Given the description of an element on the screen output the (x, y) to click on. 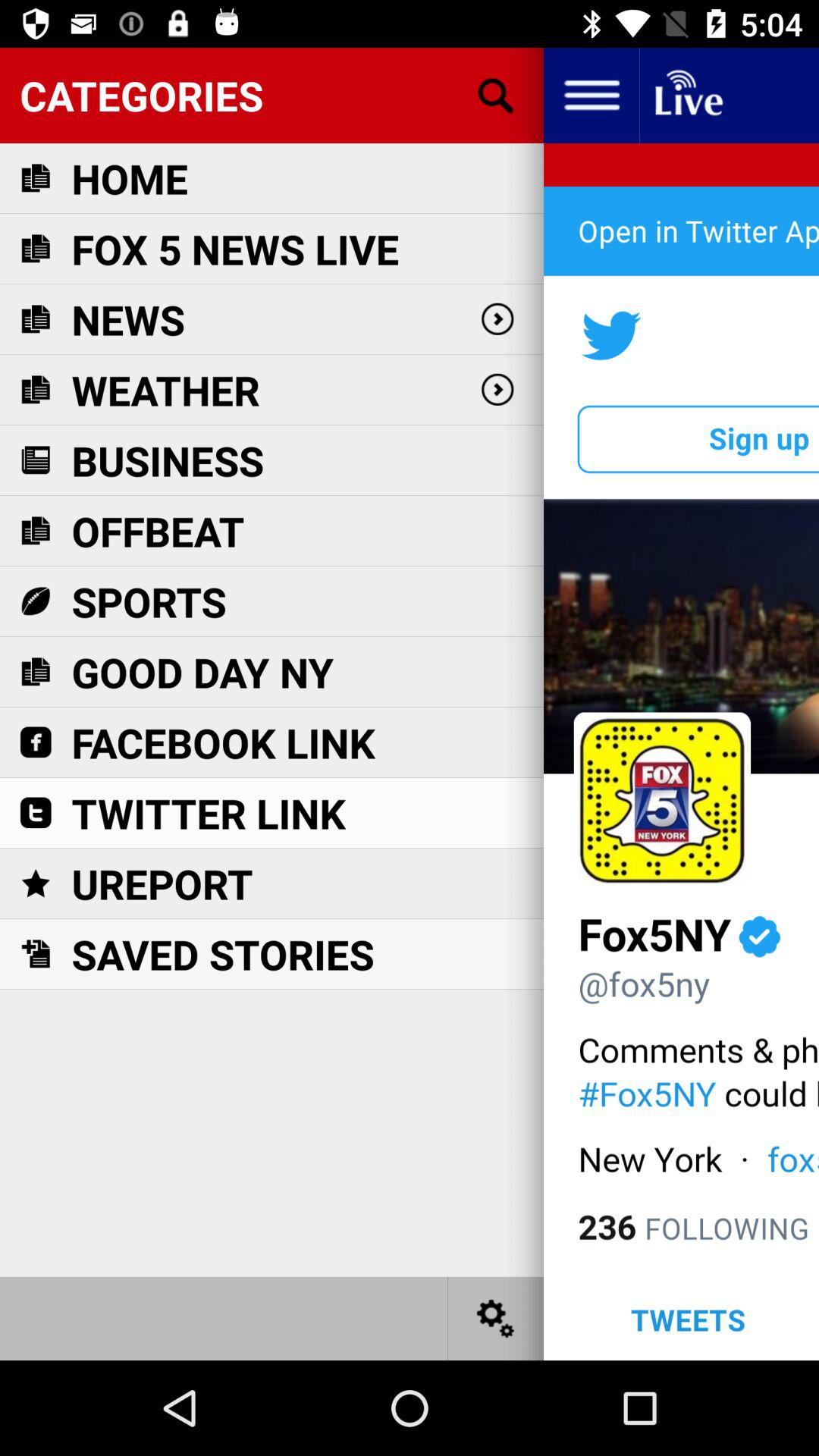
select item above business (165, 389)
